Given the description of an element on the screen output the (x, y) to click on. 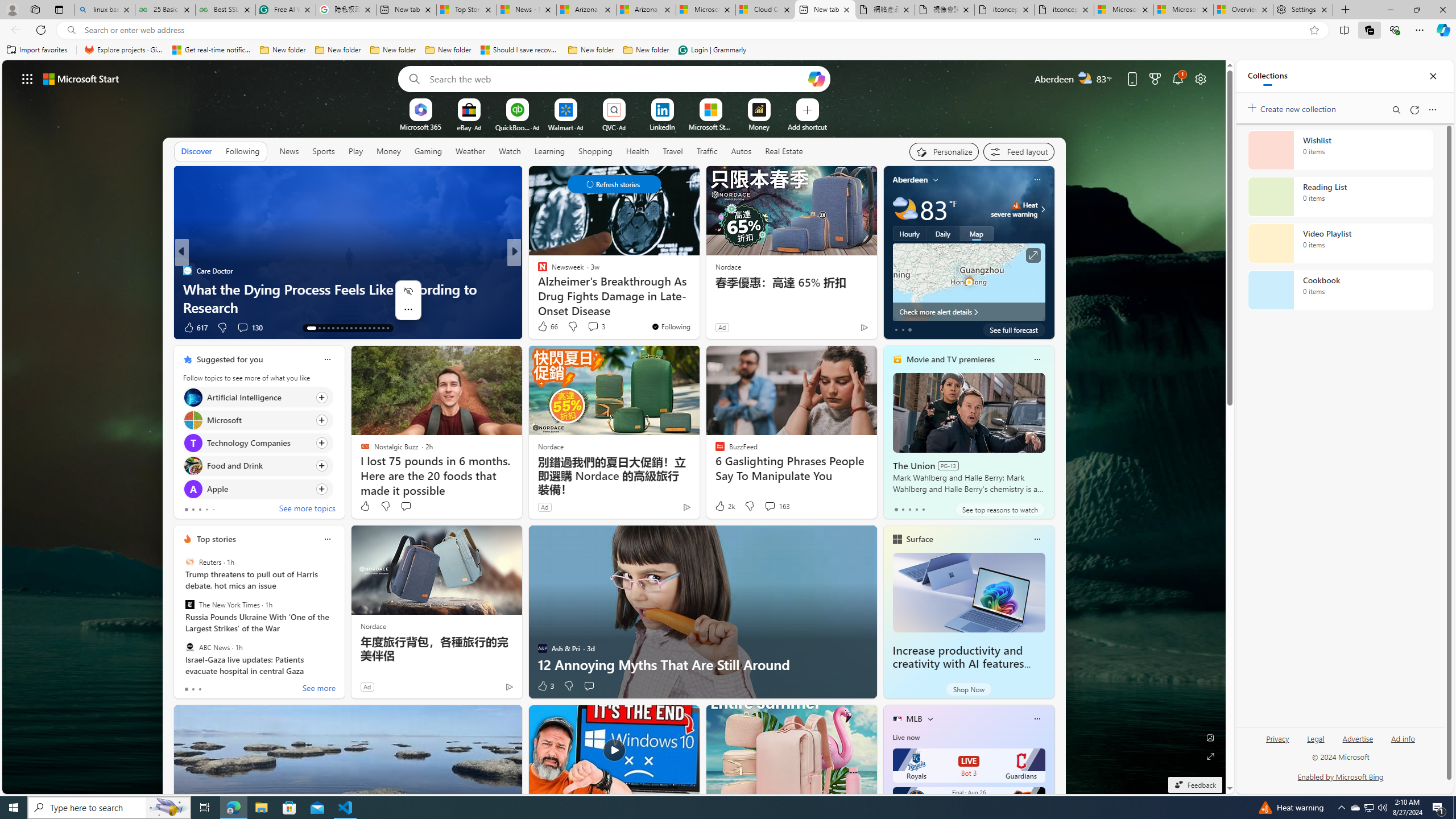
Click to follow topic Microsoft (257, 419)
Aberdeen (910, 179)
Like (364, 505)
Learning (549, 151)
View comments 26 Comment (592, 327)
450 Like (194, 327)
The New York Times (189, 604)
Reuters (189, 561)
New folder (646, 49)
Free AI Writing Assistance for Students | Grammarly (285, 9)
Create new collection (1293, 106)
